Given the description of an element on the screen output the (x, y) to click on. 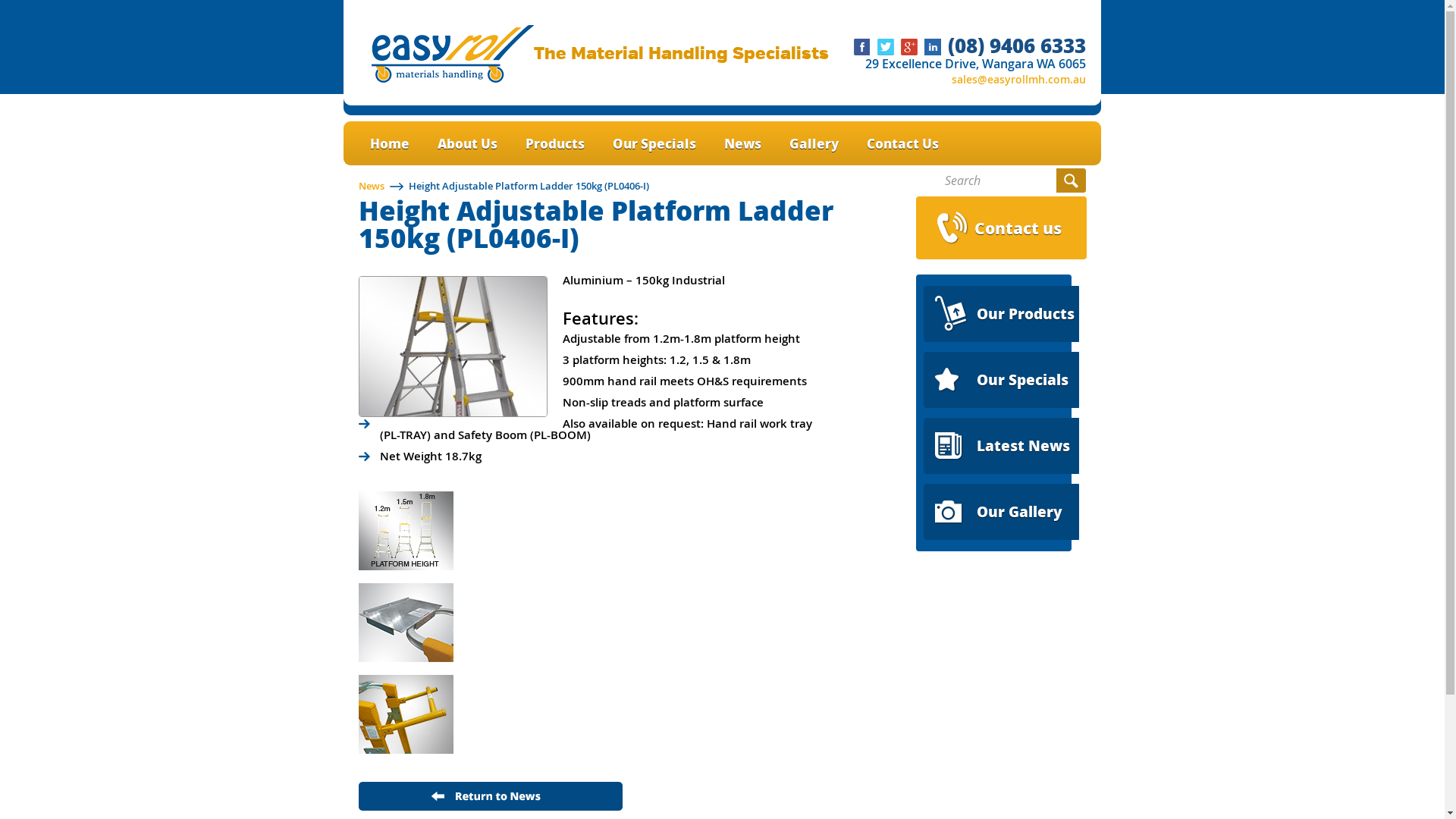
Latest News Element type: text (1001, 445)
News Element type: text (370, 185)
Contact us Element type: text (1001, 227)
Our Products Element type: text (1001, 313)
News Element type: text (742, 143)
Products Element type: text (554, 143)
Our Specials Element type: text (1001, 379)
Easy Roll Materials Handling Element type: hover (452, 78)
Home Element type: text (389, 143)
Our Specials Element type: text (654, 143)
Gallery Element type: text (813, 143)
Contact Us Element type: text (902, 143)
sales@easyrollmh.com.au Element type: text (1018, 79)
Our Gallery Element type: text (1001, 511)
Search Element type: text (1070, 180)
About Us Element type: text (467, 143)
(08) 9406 6333 Element type: text (1016, 45)
